Given the description of an element on the screen output the (x, y) to click on. 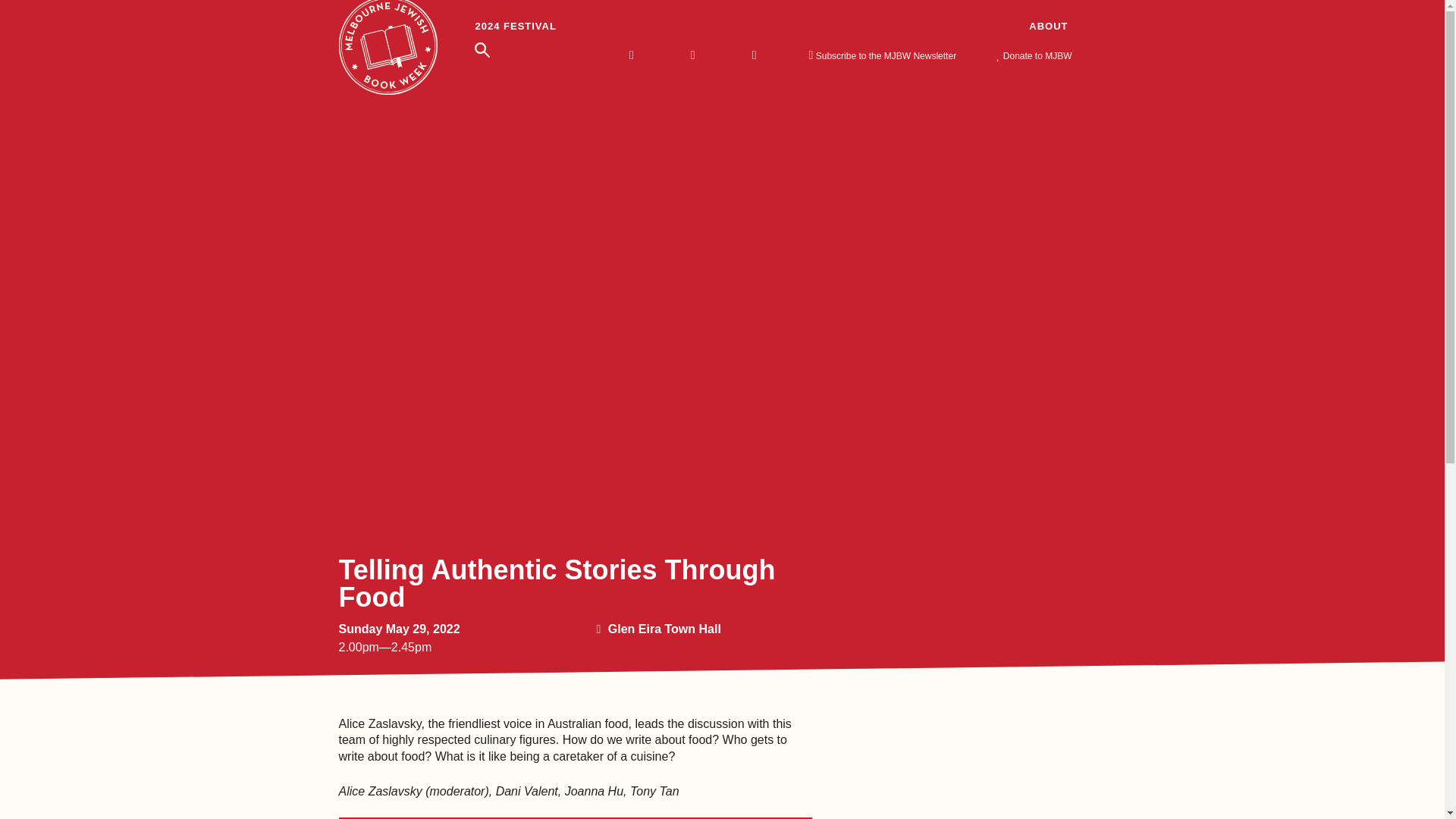
ABOUT (1048, 26)
Glen Eira Town Hall (664, 628)
Search (46, 8)
Donate to MJBW (1042, 54)
2024 FESTIVAL (514, 26)
Subscribe to the MJBW Newsletter (884, 54)
